Given the description of an element on the screen output the (x, y) to click on. 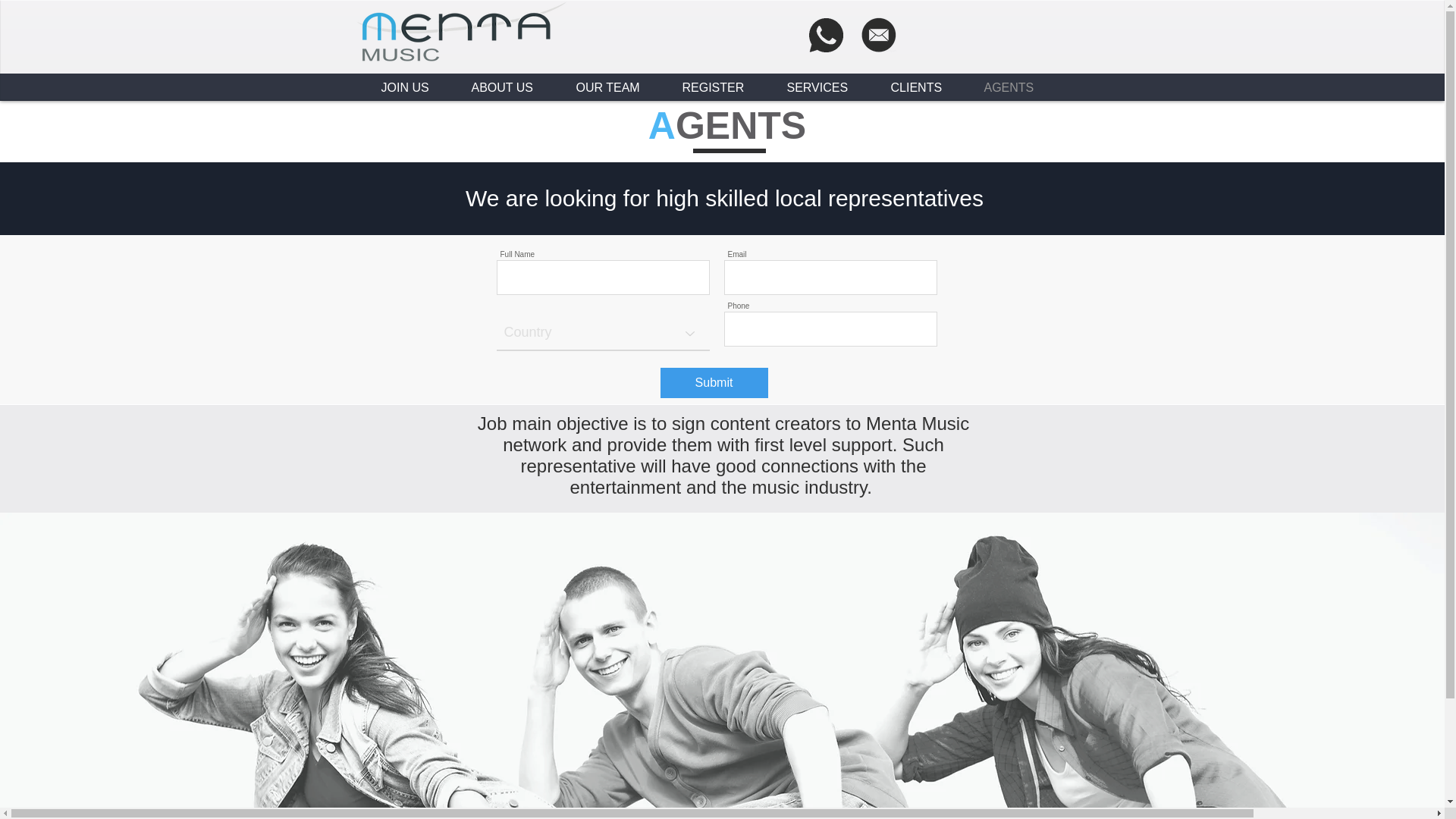
CLIENTS (925, 87)
Whatsapp (825, 35)
Email (878, 34)
OUR TEAM (616, 87)
ABOUT US (512, 87)
REGISTER (721, 87)
AGENTS (1018, 87)
SERVICES (826, 87)
JOIN US (414, 87)
